Given the description of an element on the screen output the (x, y) to click on. 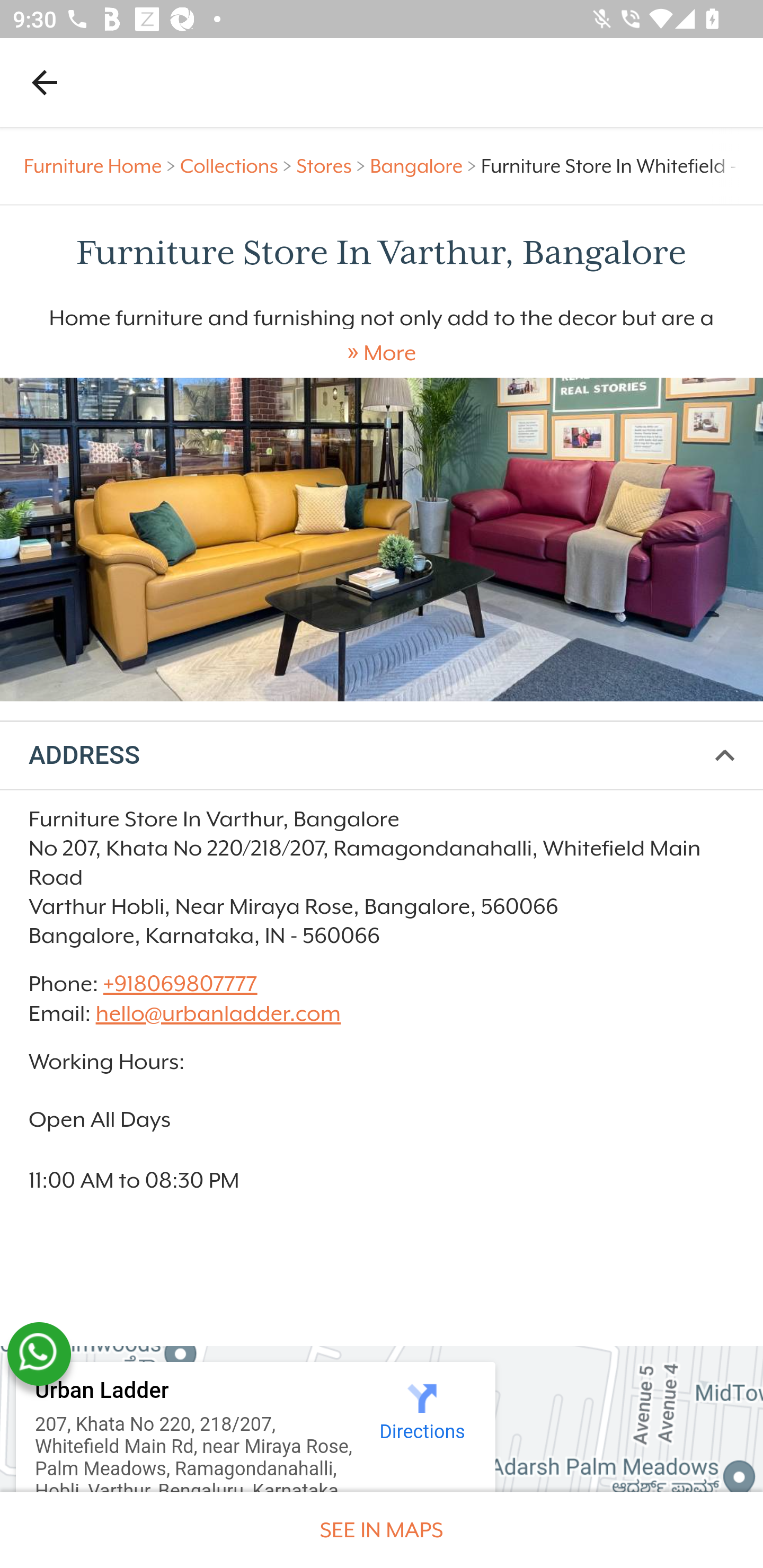
Navigate up (44, 82)
Furniture Home >  Furniture Home  >  (102, 165)
Collections >  Collections  >  (238, 165)
Stores >  Stores  >  (333, 165)
Bangalore >  Bangalore  >  (424, 165)
» More (381, 353)
Experience Centre (381, 539)
ADDRESS (381, 756)
+918069807777 (179, 983)
hello@urbanladder.com (218, 1013)
whatsapp (38, 1353)
SEE IN MAPS (381, 1530)
